Given the description of an element on the screen output the (x, y) to click on. 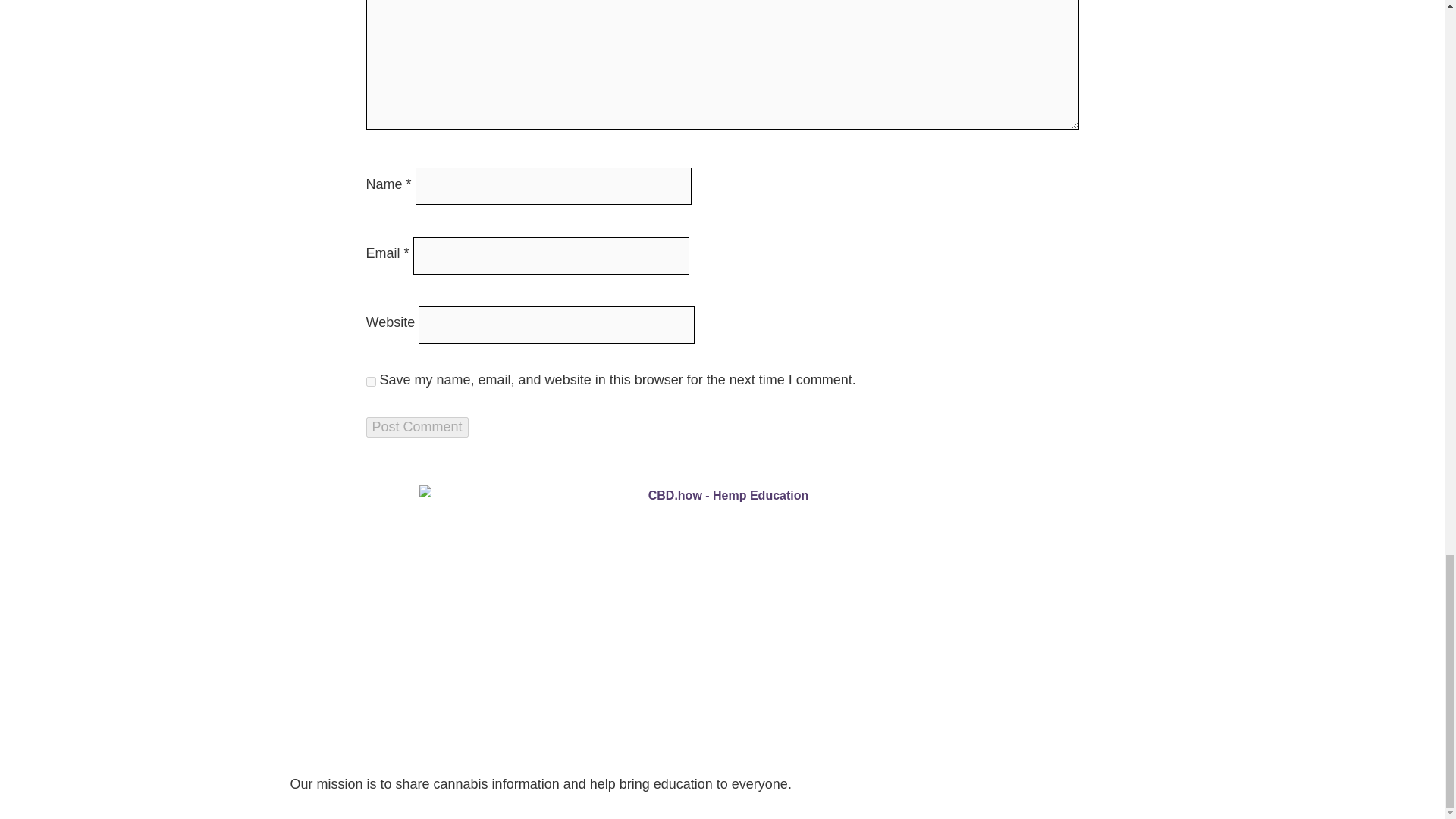
Post Comment (416, 426)
yes (370, 380)
Post Comment (416, 426)
